Given the description of an element on the screen output the (x, y) to click on. 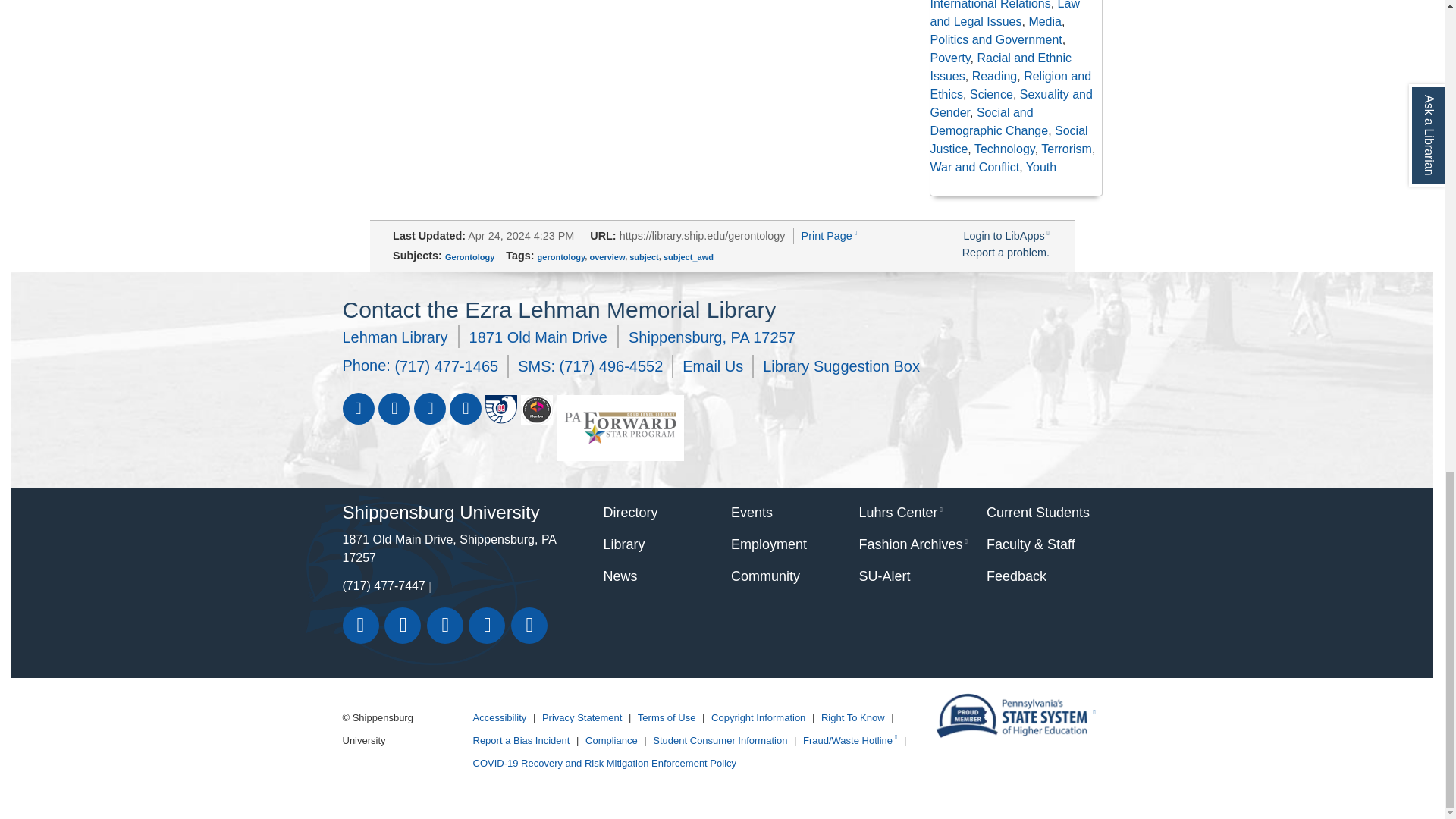
Ship Library on Instagram (464, 409)
Ship Library on Facebook (358, 409)
Ship Library on YouTube (429, 409)
View Address on Google Maps (568, 336)
Ship Library on Twitter (393, 409)
